Given the description of an element on the screen output the (x, y) to click on. 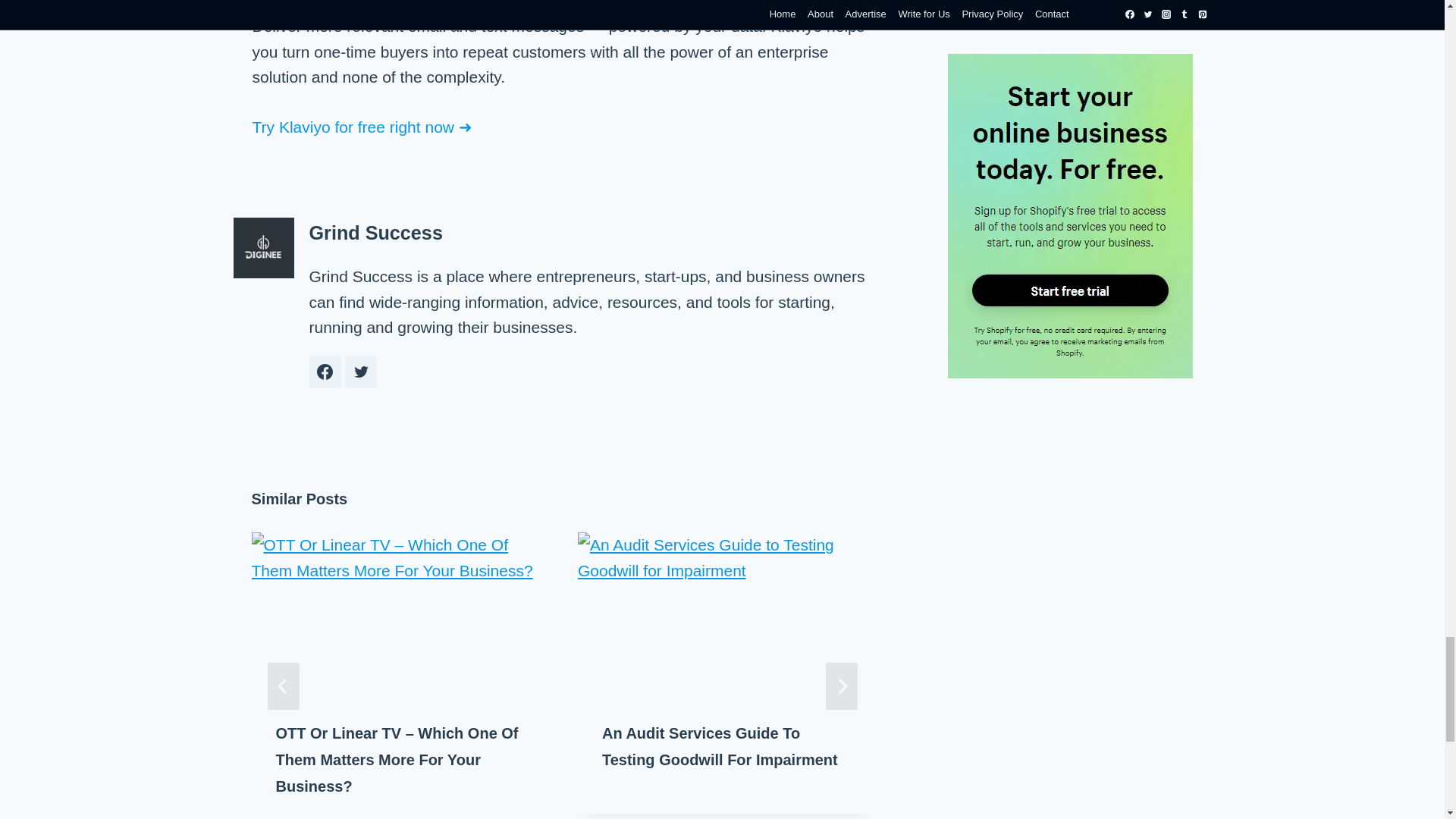
Follow Grind Success on Facebook (324, 372)
Follow Grind Success on Twitter (361, 372)
Posts by Grind Success (375, 232)
